Given the description of an element on the screen output the (x, y) to click on. 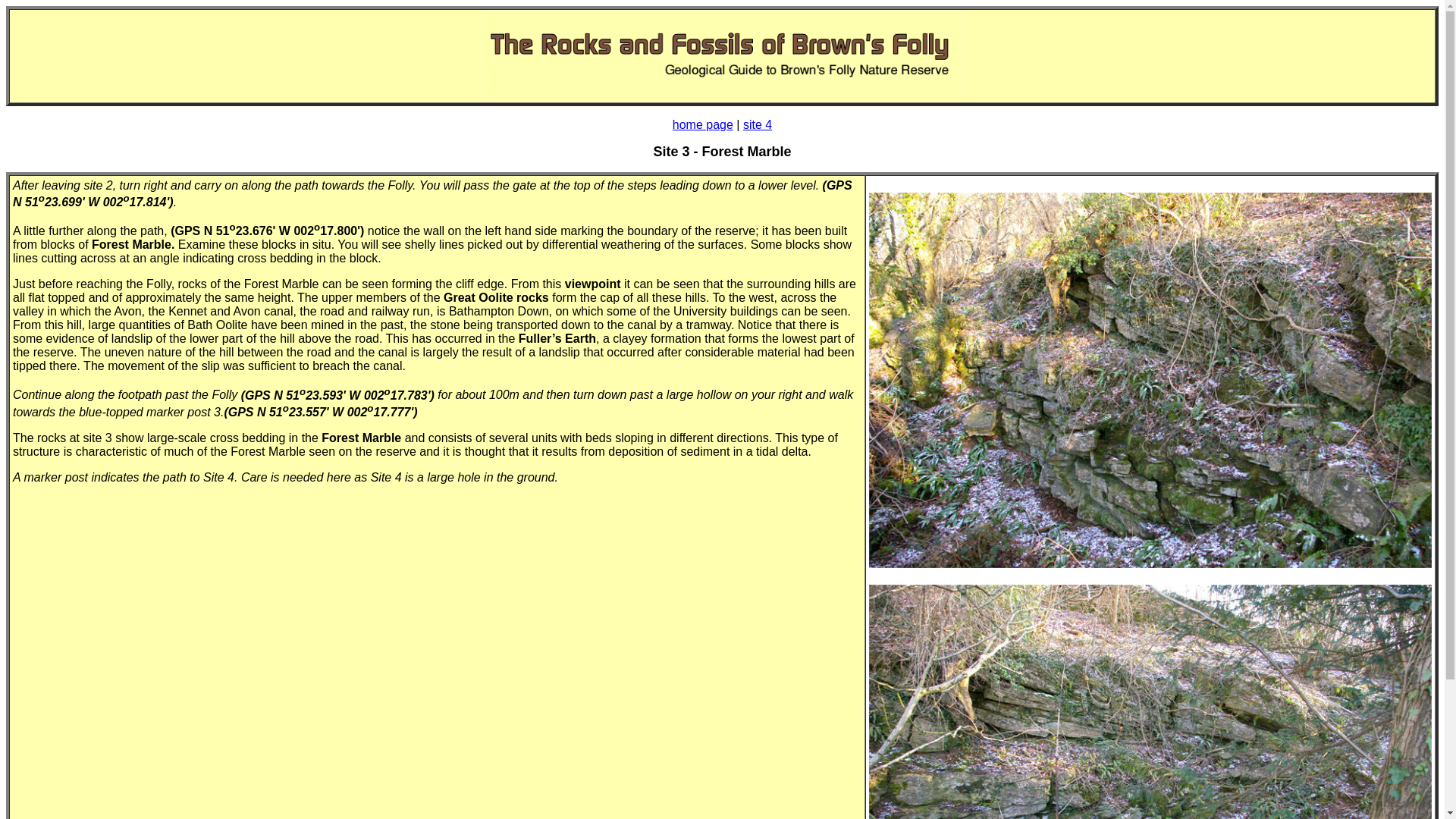
site 4 (756, 124)
home page (702, 124)
